Given the description of an element on the screen output the (x, y) to click on. 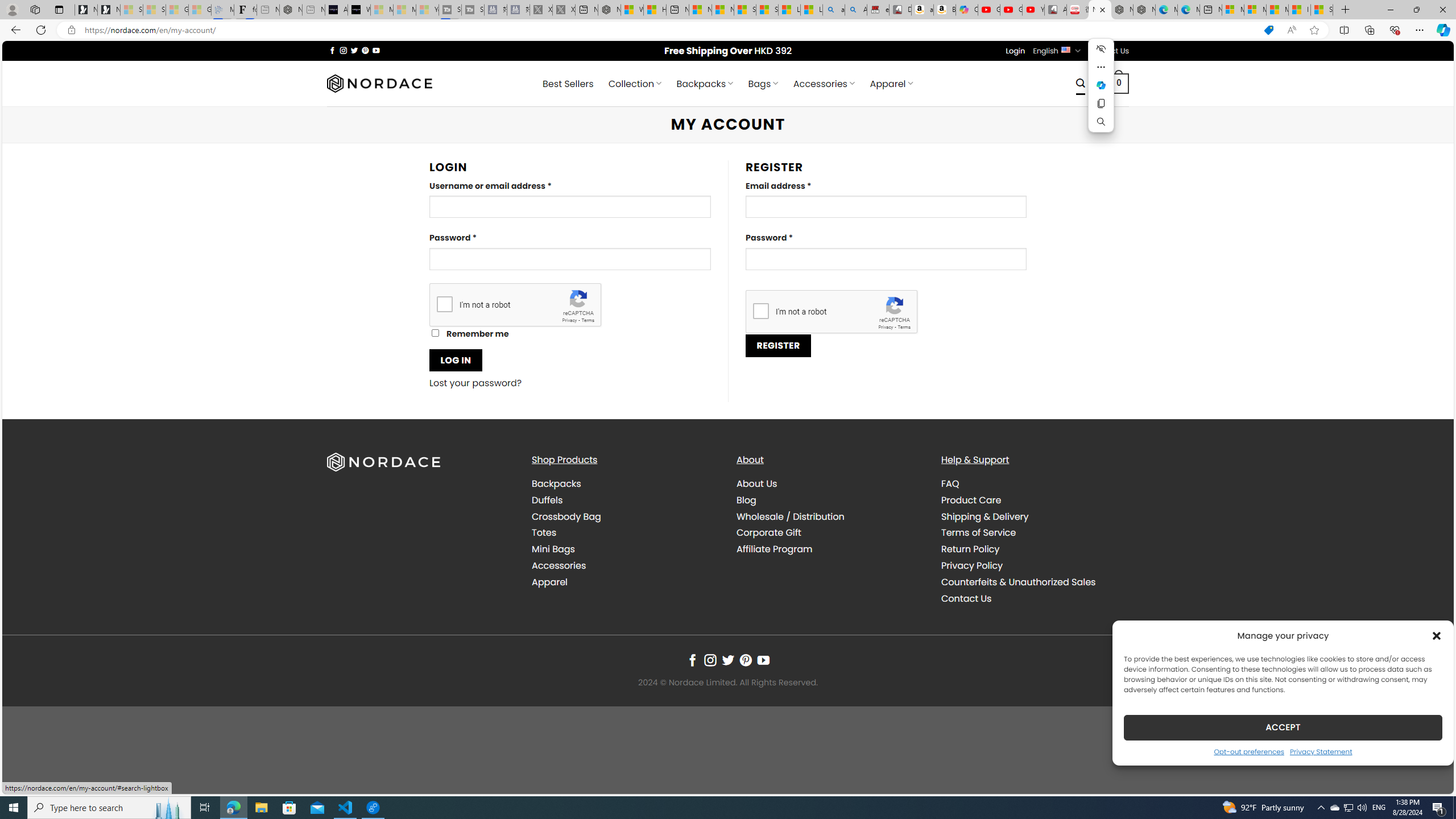
English (1065, 49)
New tab (1211, 9)
Lost your password? (475, 382)
Microsoft account | Privacy (1255, 9)
Corporate Gift (768, 532)
Amazon Echo Dot PNG - Search Images (856, 9)
amazon.in/dp/B0CX59H5W7/?tag=gsmcom05-21 (923, 9)
Product Care (970, 499)
Counterfeits & Unauthorized Sales (1018, 581)
Search (1079, 83)
